Given the description of an element on the screen output the (x, y) to click on. 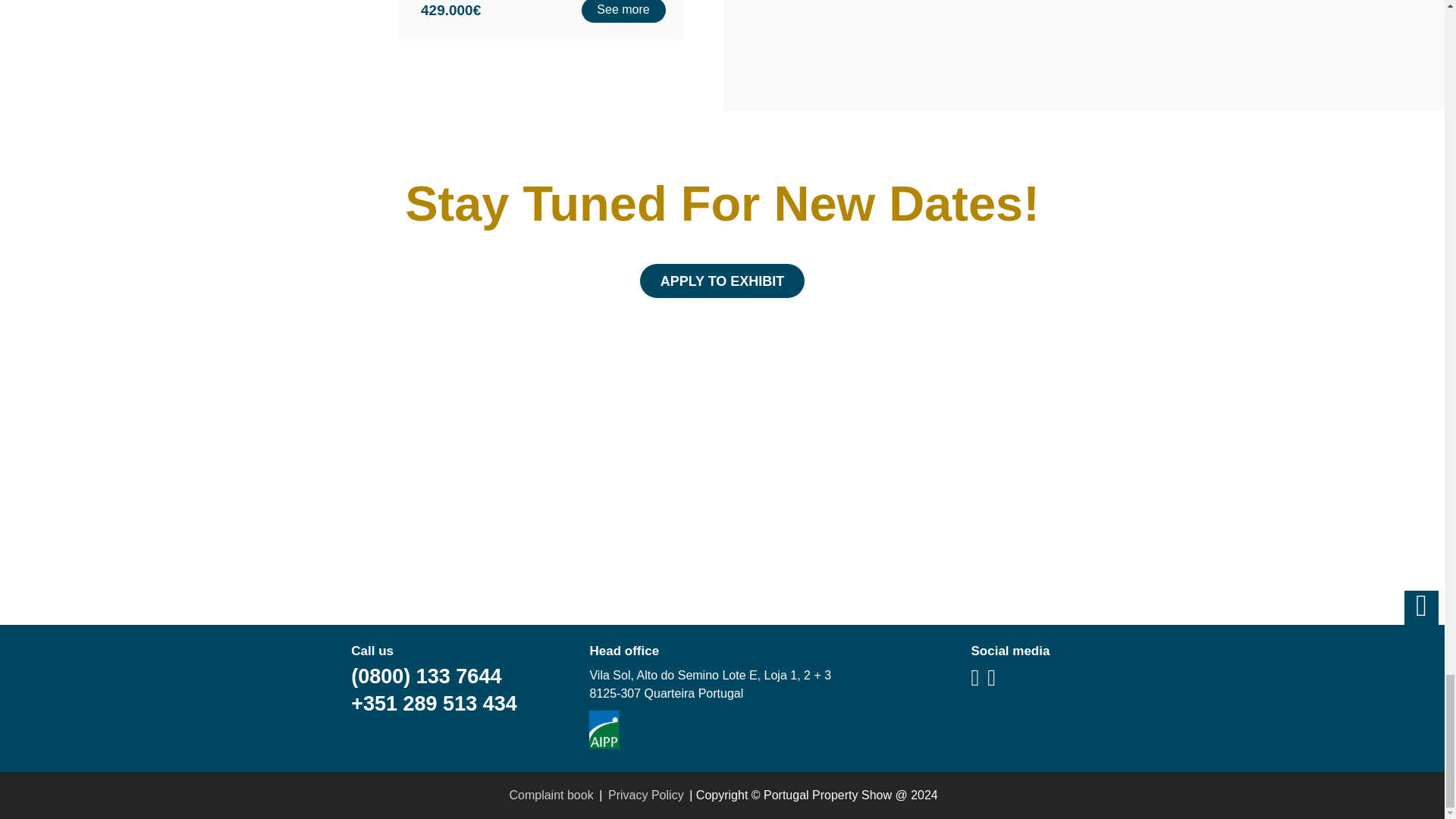
Complaint book (550, 794)
Privacy Policy (645, 794)
APPLY TO EXHIBIT (722, 280)
